Given the description of an element on the screen output the (x, y) to click on. 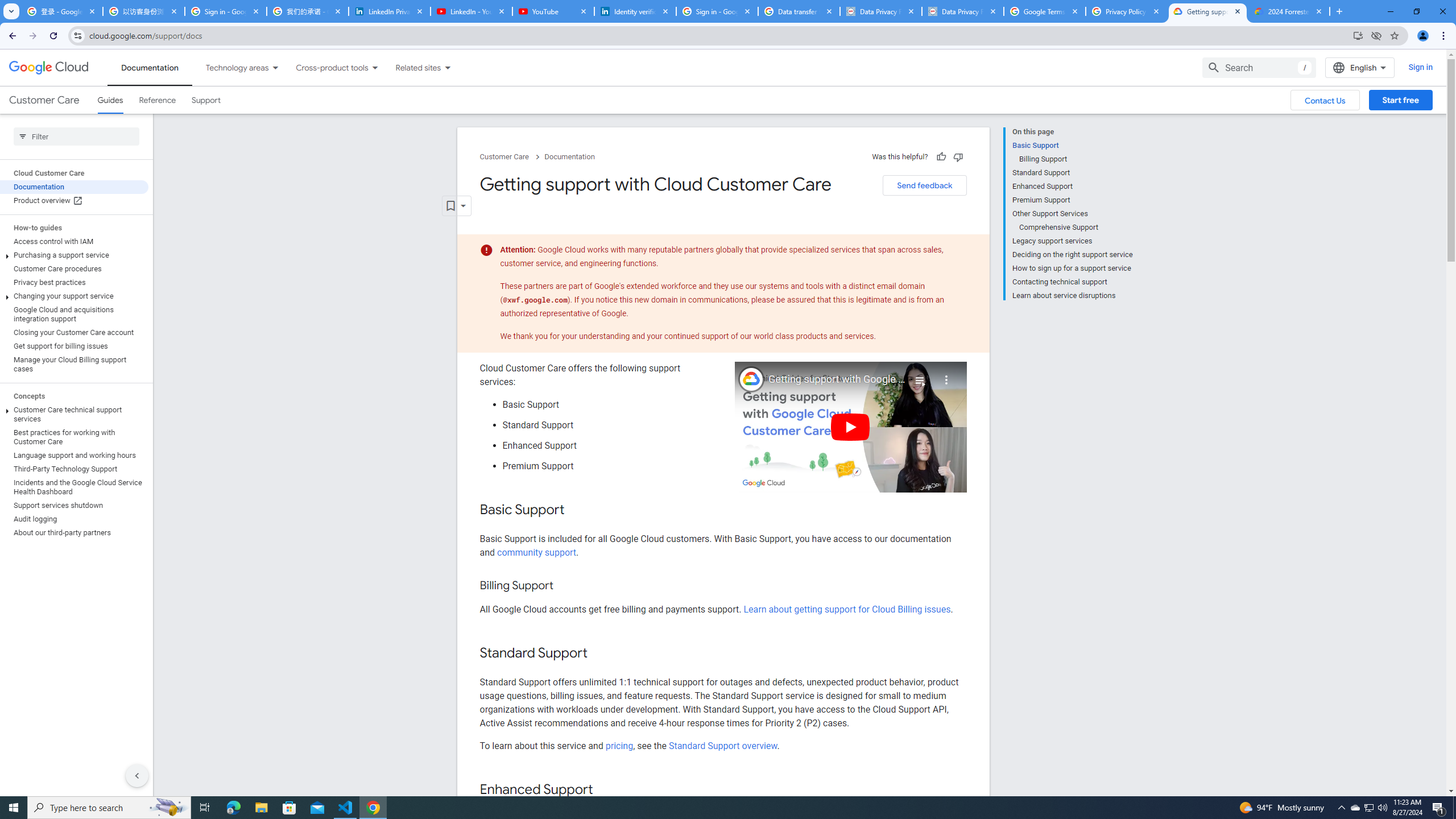
Best practices for working with Customer Care (74, 436)
Learn about getting support for Cloud Billing issues (847, 609)
Customer Care (44, 100)
Dropdown menu for Cross-product tools (374, 67)
Standard Support overview (722, 745)
Access control with IAM (74, 241)
Play (850, 426)
Related sites (411, 67)
Closing your Customer Care account (74, 332)
Google Cloud (48, 67)
